Given the description of an element on the screen output the (x, y) to click on. 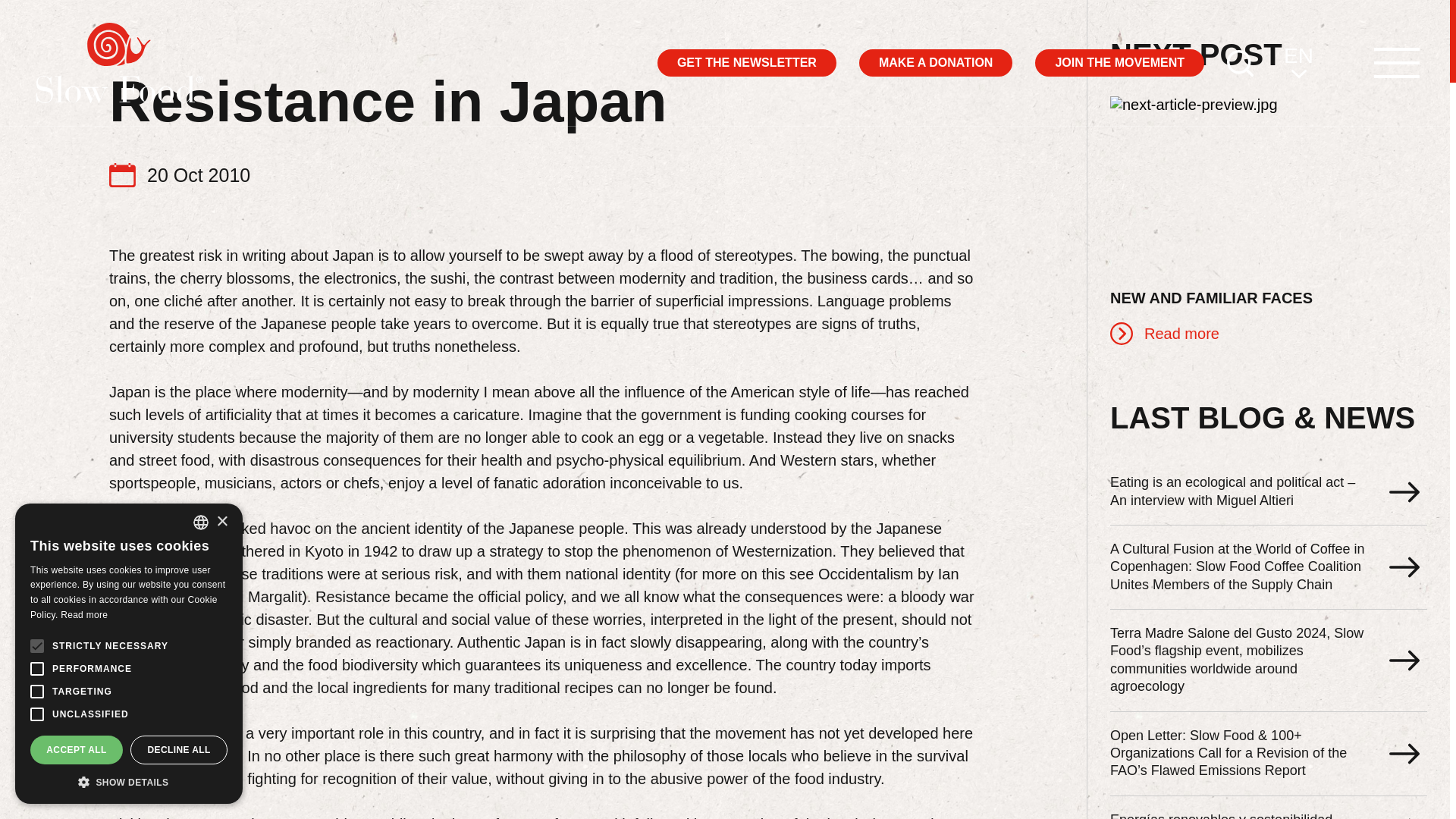
GET THE NEWSLETTER (746, 62)
Slow Food (119, 62)
MAKE A DONATION (936, 62)
New and Familiar Faces (1267, 219)
JOIN THE MOVEMENT (1119, 62)
